Given the description of an element on the screen output the (x, y) to click on. 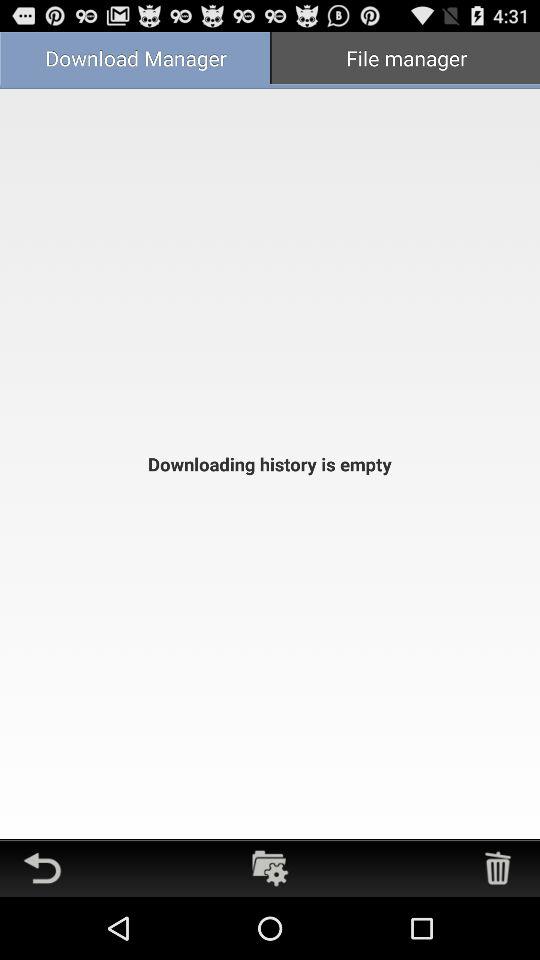
return to last page (42, 868)
